Given the description of an element on the screen output the (x, y) to click on. 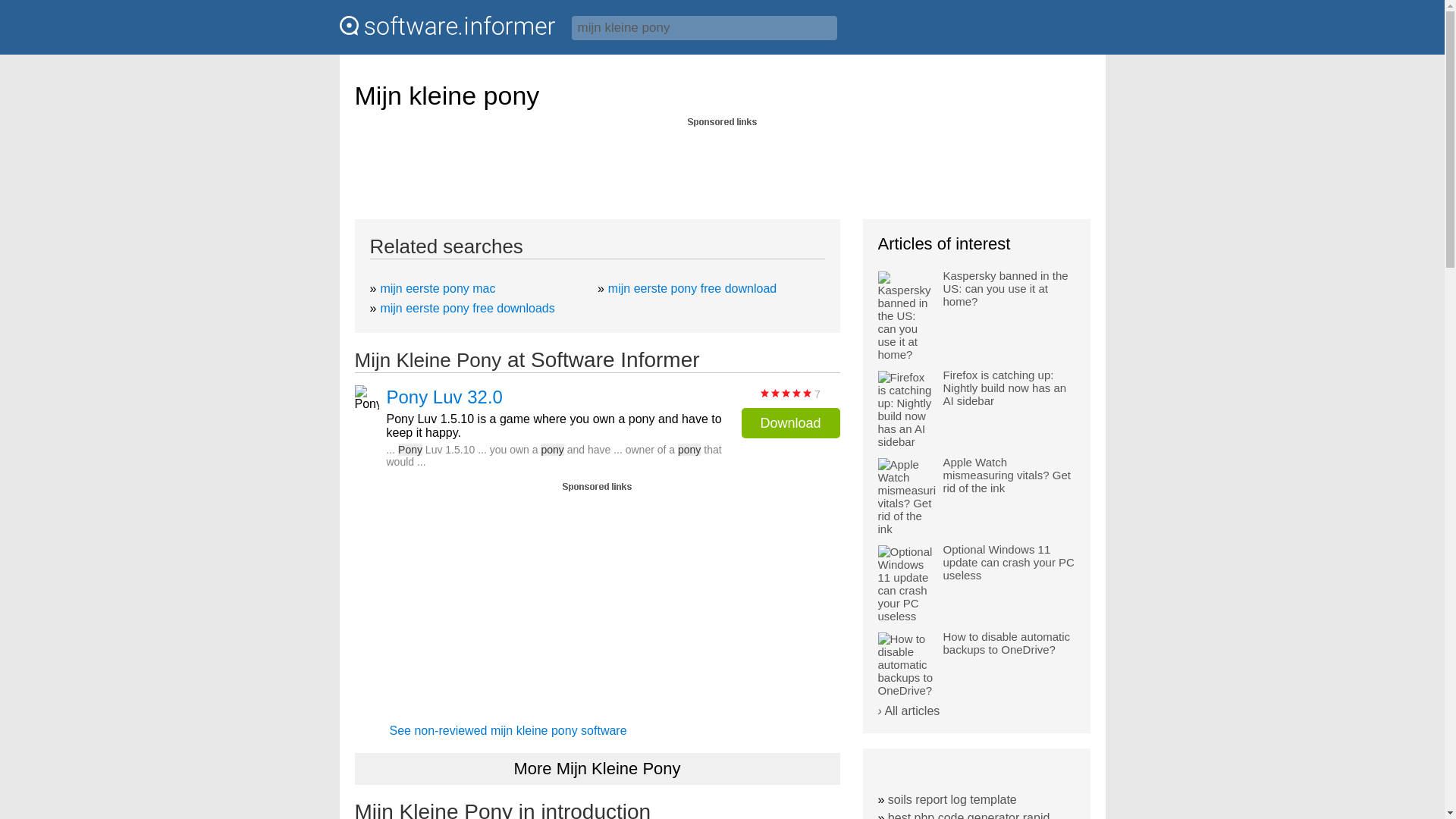
mijn kleine pony (704, 27)
See non-reviewed mijn kleine pony software (508, 730)
Download (790, 422)
Software downloads and reviews (446, 25)
mijn eerste pony free downloads (467, 308)
Pony Luv 32.0 (444, 396)
mijn eerste pony mac (437, 287)
Pony Luv 32.0 (444, 396)
Windows (1070, 33)
mijn eerste pony free download (692, 287)
7 votes (785, 393)
